Given the description of an element on the screen output the (x, y) to click on. 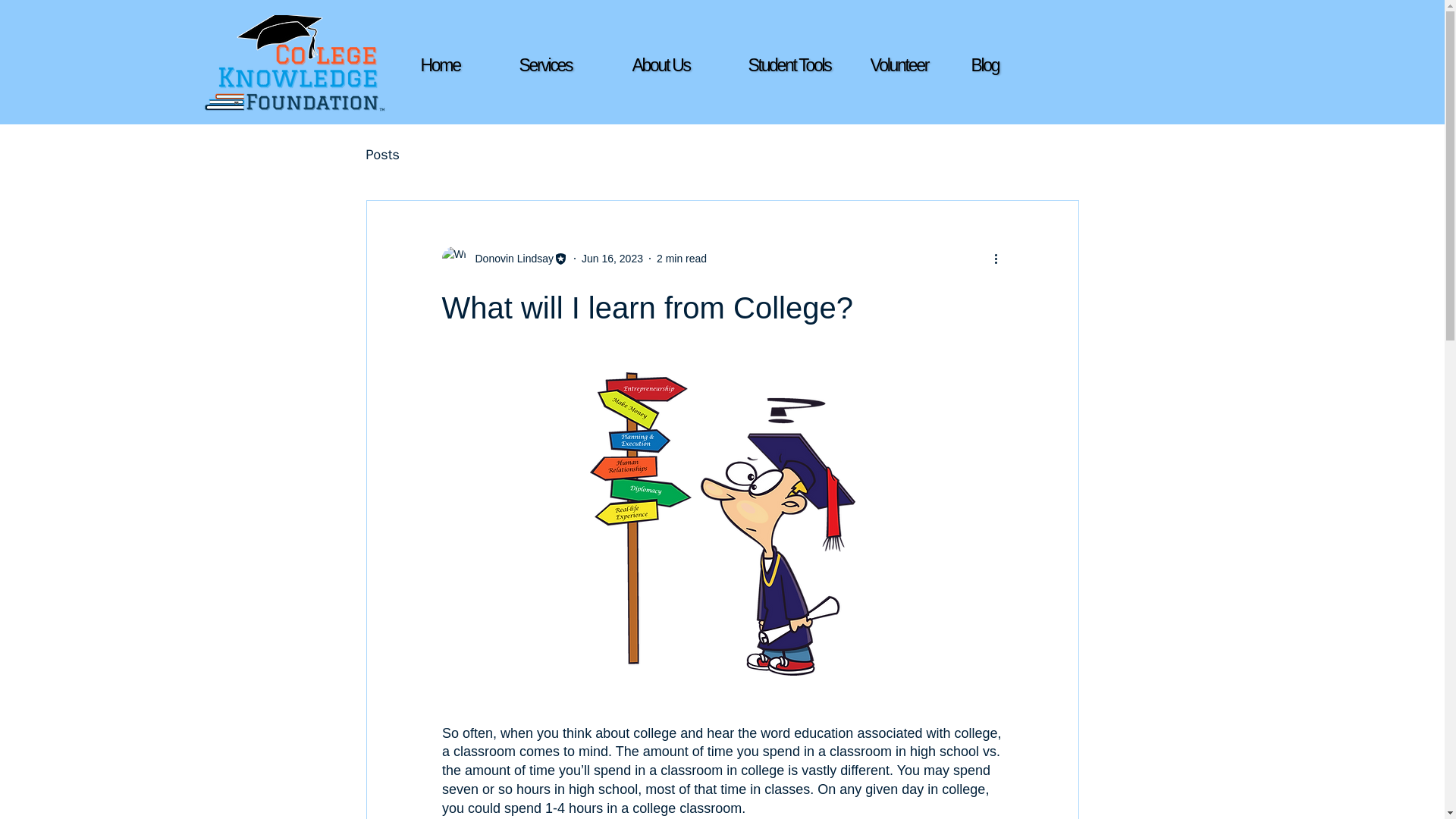
Services (571, 65)
Student Tools (800, 65)
Home (472, 65)
Blog (1023, 65)
Jun 16, 2023 (611, 257)
2 min read (681, 257)
About Us (684, 65)
Volunteer (922, 65)
Donovin Lindsay (509, 258)
